Given the description of an element on the screen output the (x, y) to click on. 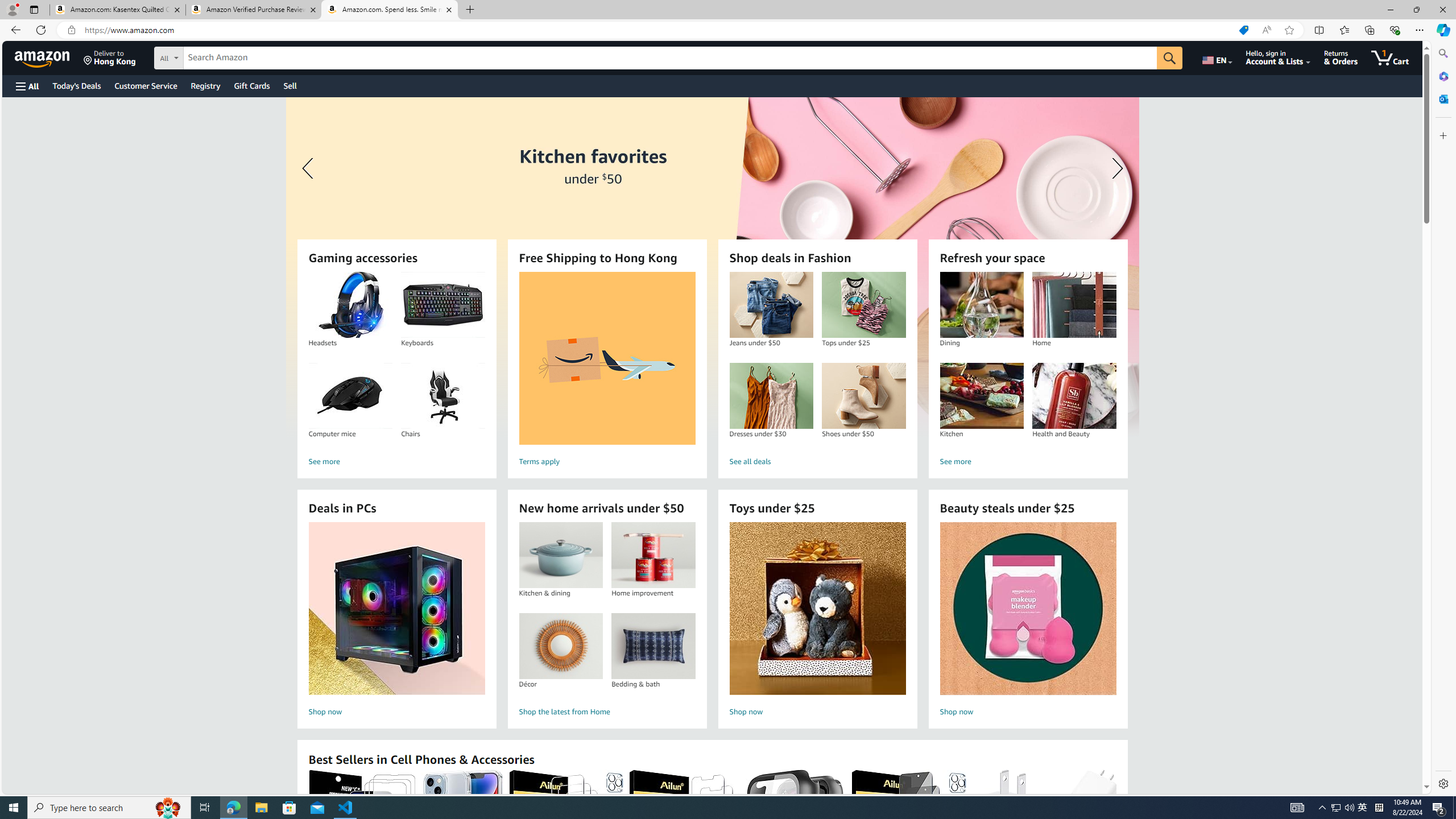
Open Menu (26, 86)
Tops under $25 (863, 304)
Customer Service (145, 85)
Next slide (1114, 168)
Search in (210, 56)
Kitchen & dining (560, 555)
Today's Deals (76, 85)
Deals in PCs (395, 608)
Beauty steals under $25 (1027, 608)
Home improvement (653, 555)
